Given the description of an element on the screen output the (x, y) to click on. 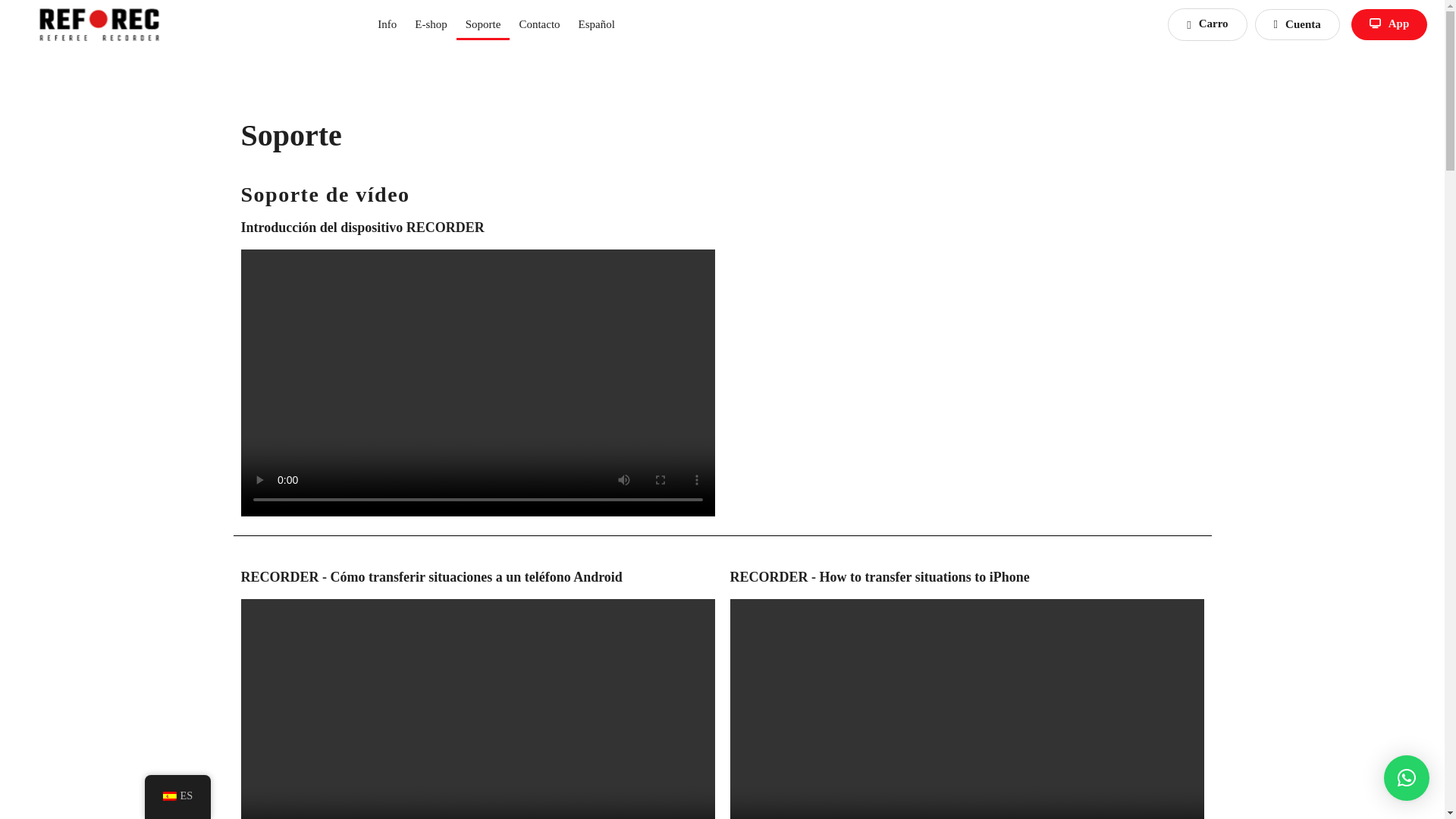
E-shop (431, 24)
Carro (1206, 24)
Soporte (484, 24)
Contacto (539, 24)
Info (387, 24)
Cuenta (1297, 24)
